Given the description of an element on the screen output the (x, y) to click on. 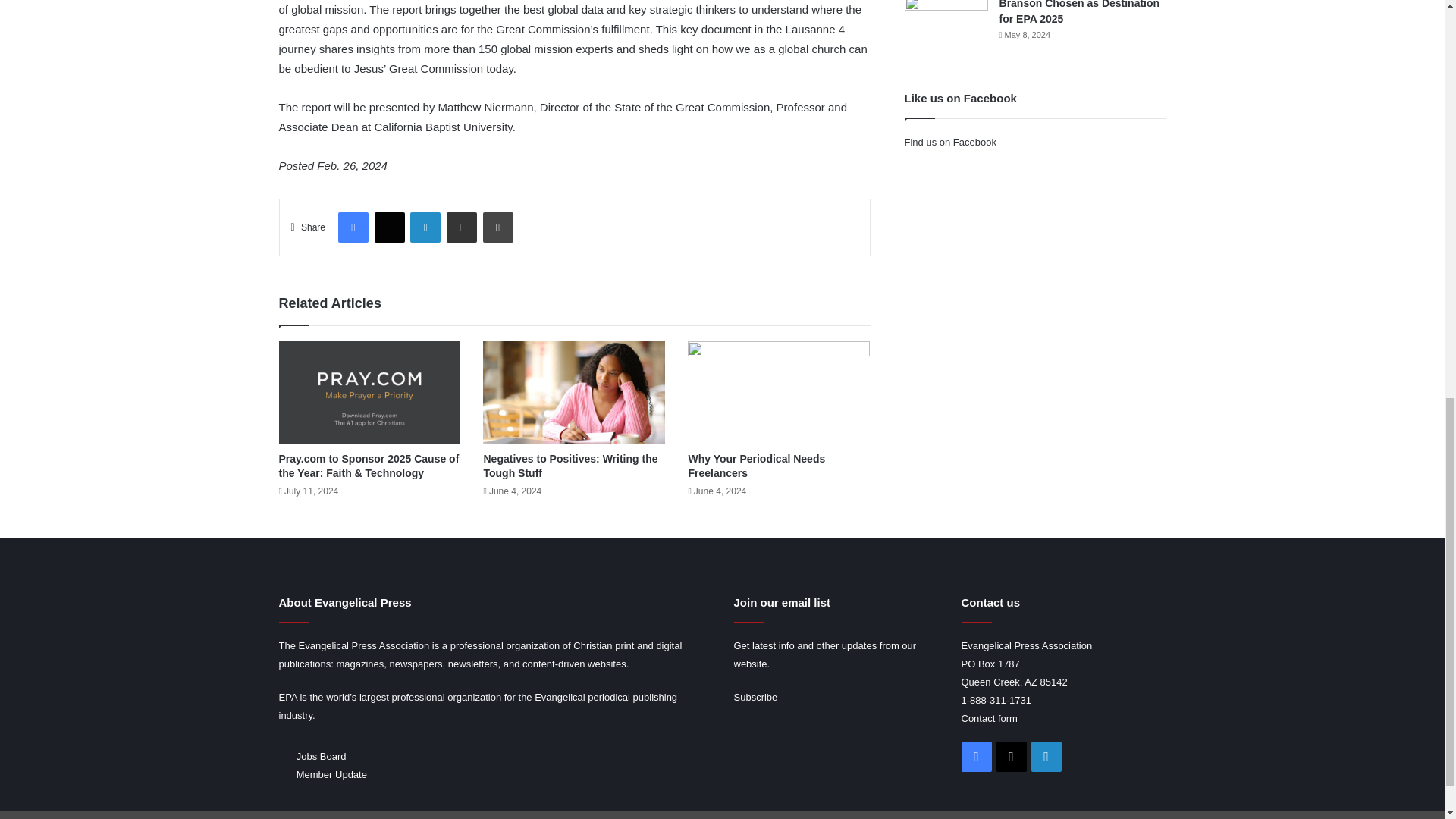
LinkedIn (425, 227)
Share via Email (461, 227)
X (389, 227)
Print (496, 227)
Facebook (352, 227)
